Given the description of an element on the screen output the (x, y) to click on. 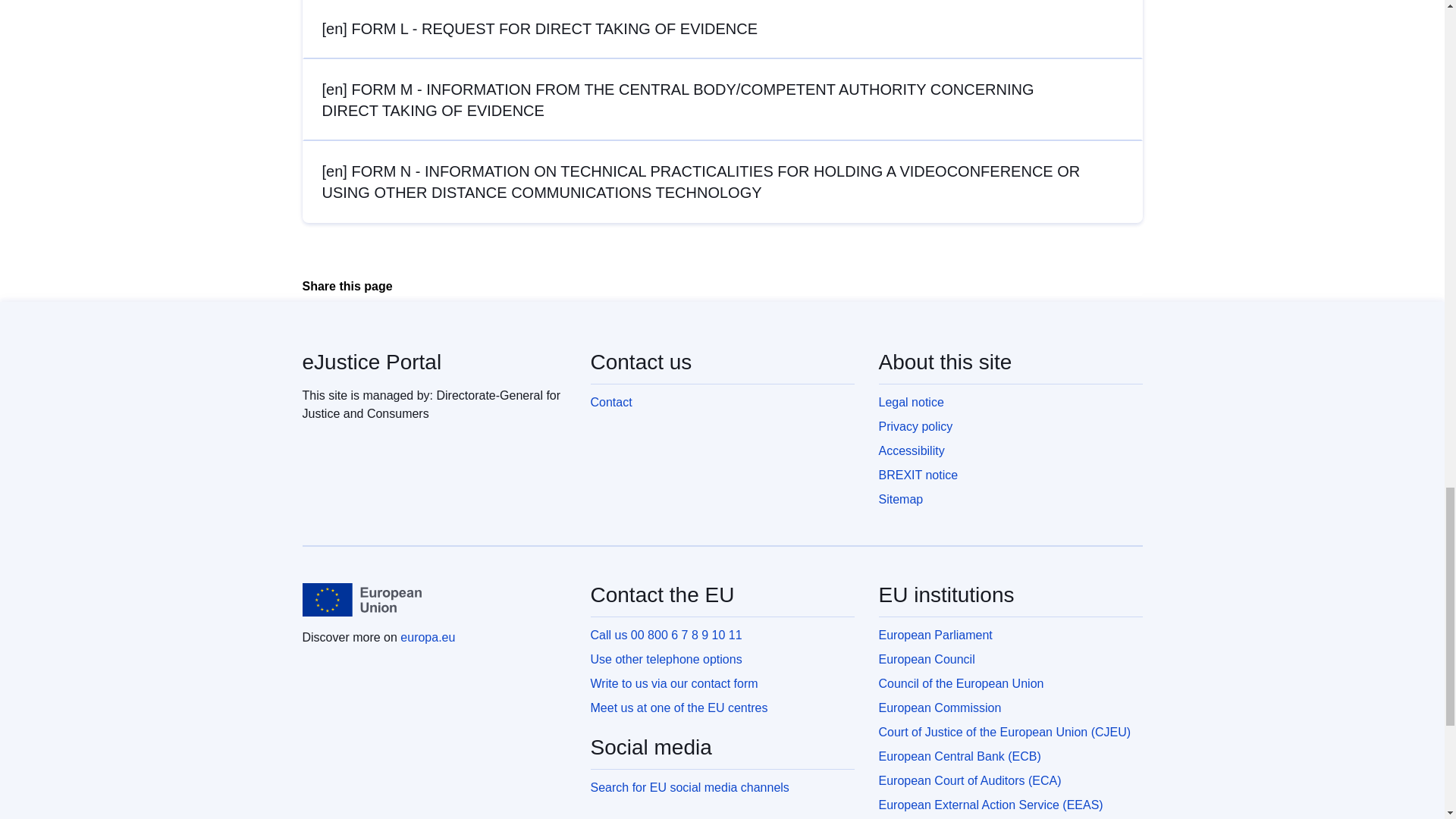
Legal notice (918, 401)
BREXIT notice (926, 474)
eJustice Portal (371, 361)
European Union (361, 599)
Privacy policy (924, 426)
Sitemap (908, 499)
Accessibility (919, 450)
Contact (619, 401)
